Given the description of an element on the screen output the (x, y) to click on. 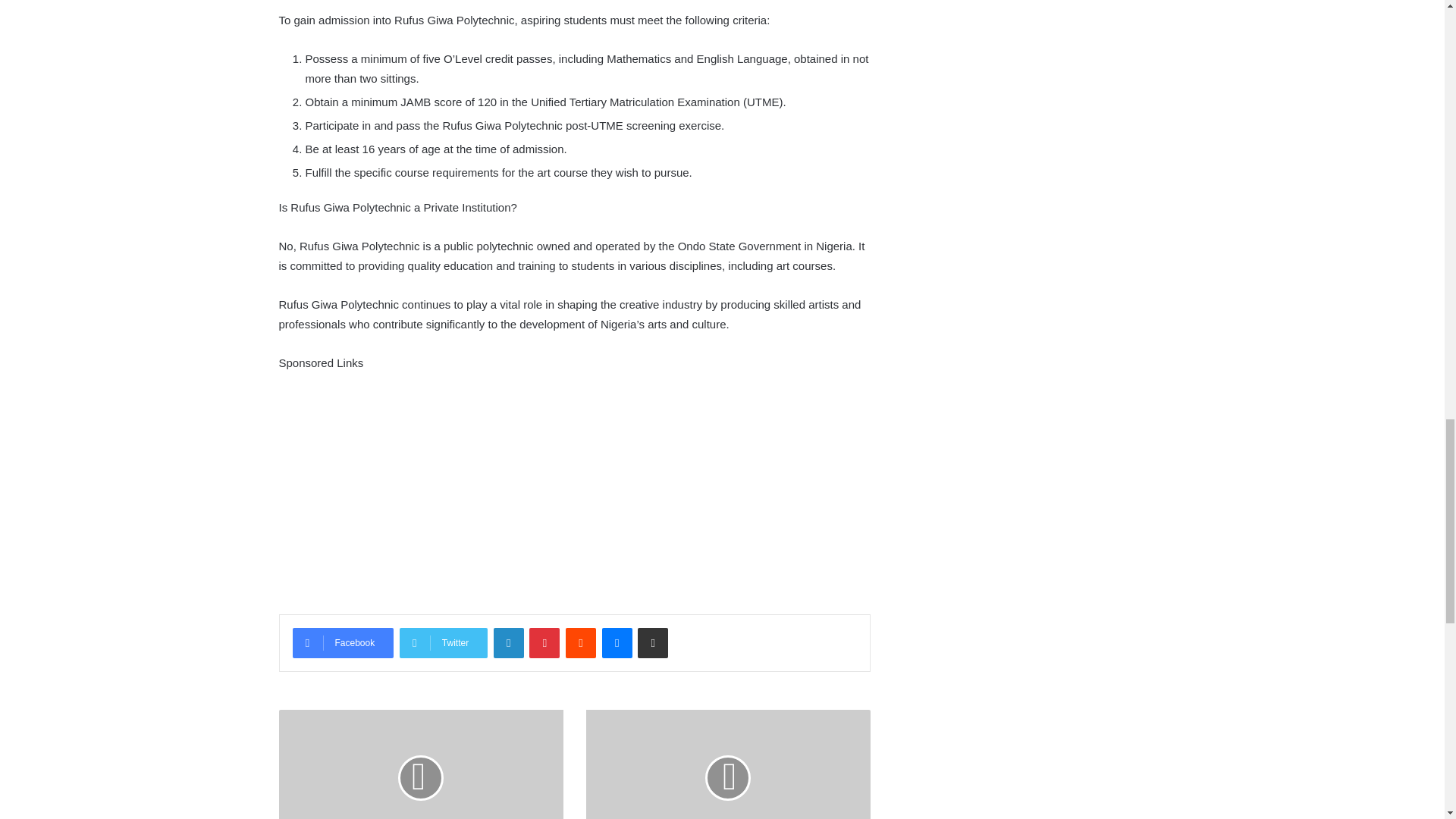
Pinterest (544, 643)
Share via Email (652, 643)
LinkedIn (508, 643)
Twitter (442, 643)
Facebook (343, 643)
Reddit (580, 643)
Messenger (616, 643)
